Given the description of an element on the screen output the (x, y) to click on. 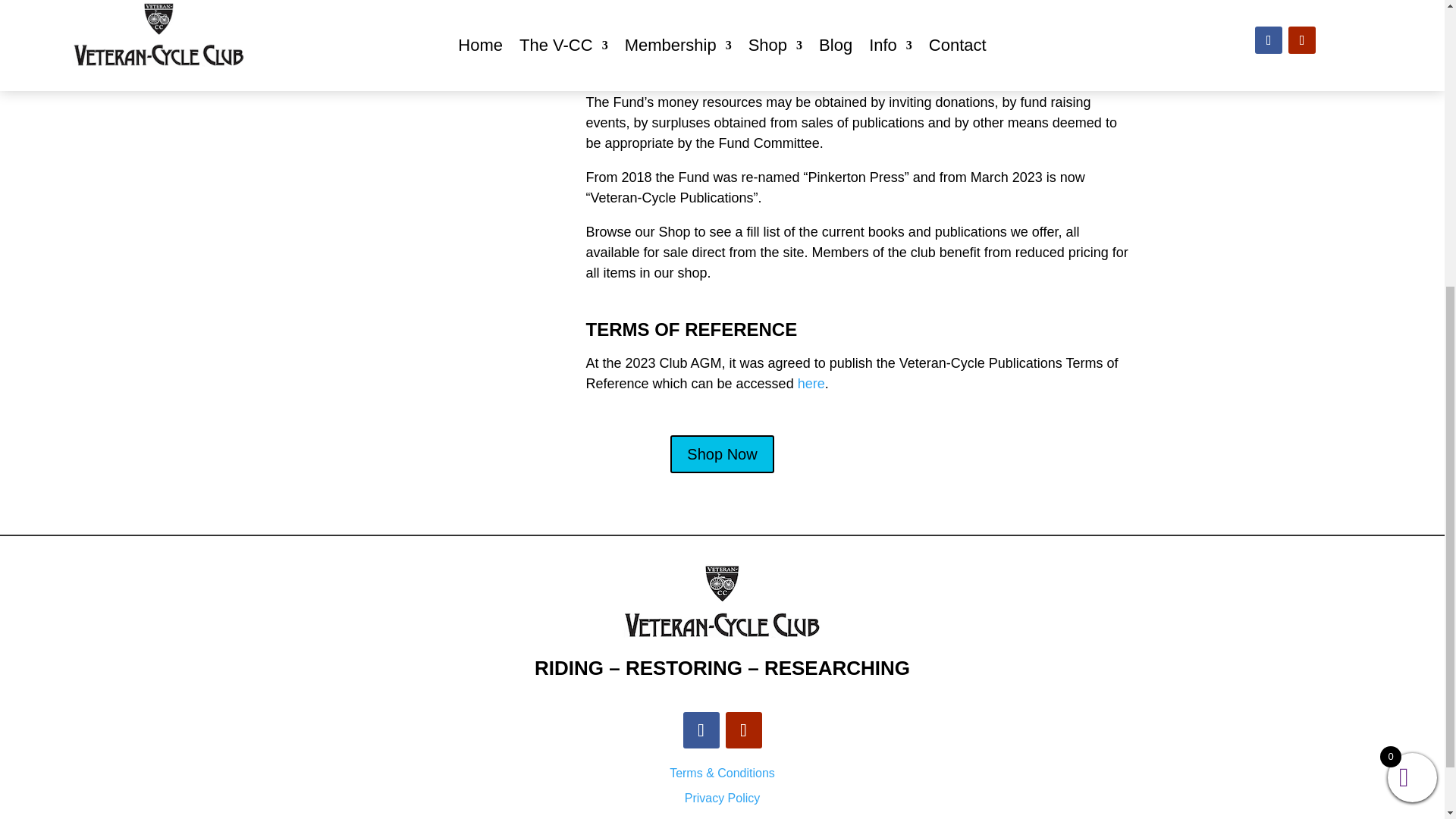
Follow on Youtube (743, 729)
publications-on-white (449, 5)
Follow on Facebook (700, 729)
Publications (449, 6)
